Given the description of an element on the screen output the (x, y) to click on. 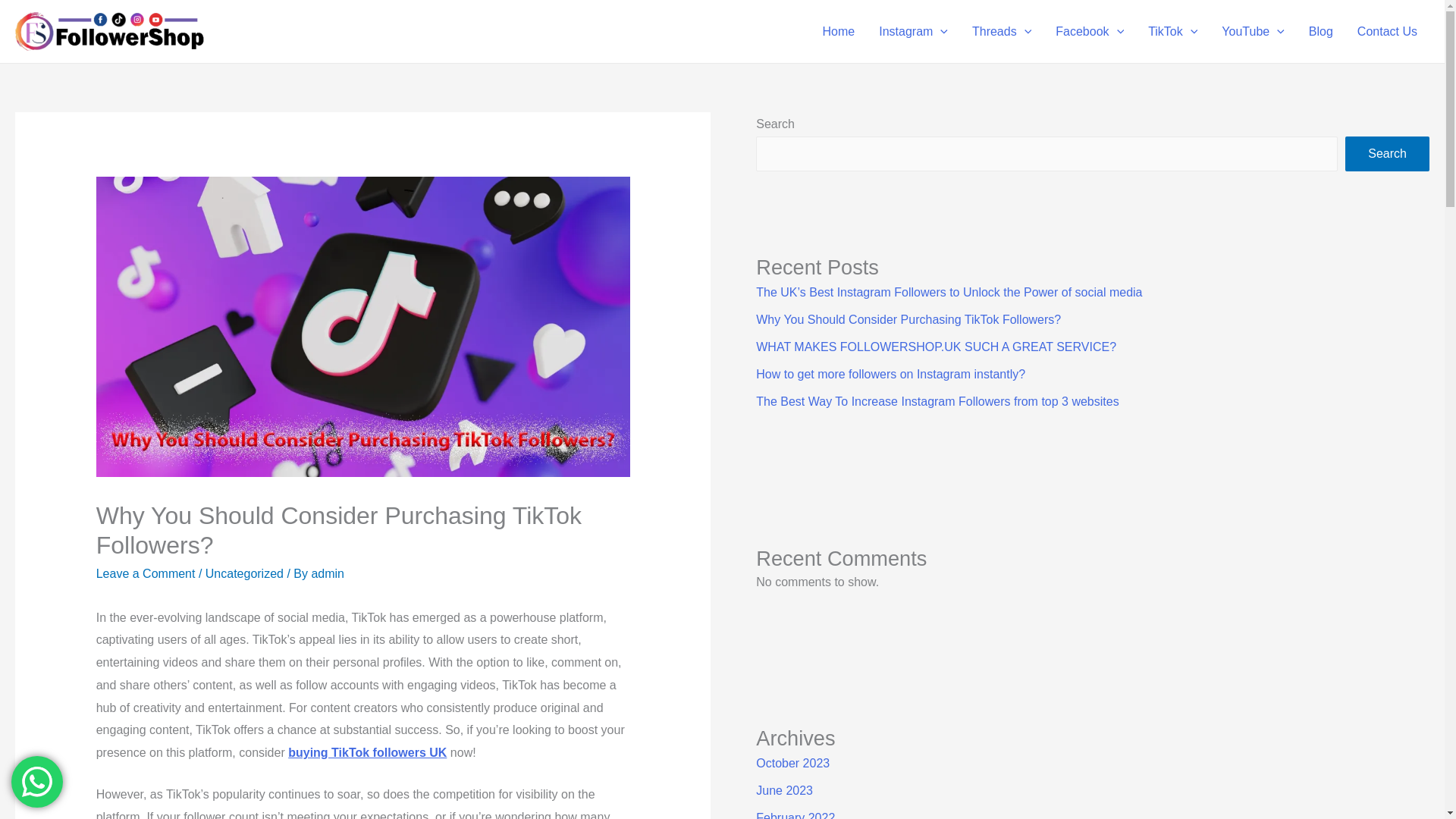
Facebook (1089, 30)
Threads (1001, 30)
Contact Us (1387, 30)
Blog (1321, 30)
Home (838, 30)
View all posts by admin (327, 573)
WhatsApp us (36, 781)
TikTok (1172, 30)
Instagram (912, 30)
YouTube (1252, 30)
